Given the description of an element on the screen output the (x, y) to click on. 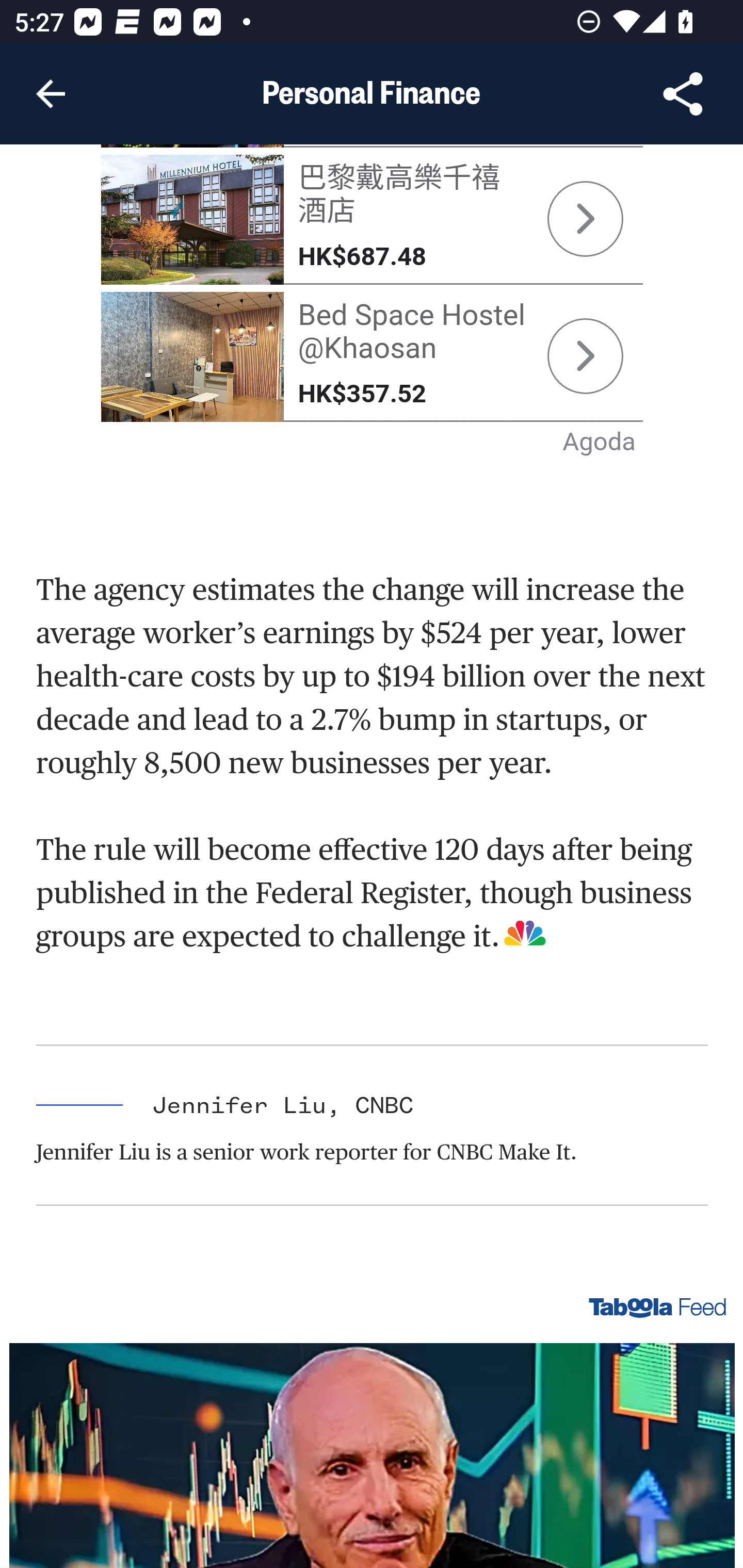
Navigate up (50, 93)
Share Article, button (683, 94)
partnersearch (193, 219)
巴黎戴高樂千禧 酒店 巴黎戴高樂千禧 酒店 (399, 193)
partnersearch (584, 218)
HK$687.48 (361, 255)
partnersearch (193, 355)
partnersearch (584, 356)
HK$357.52 (361, 392)
Agoda (599, 441)
Image for Taboola Advertising Unit (372, 1454)
